Given the description of an element on the screen output the (x, y) to click on. 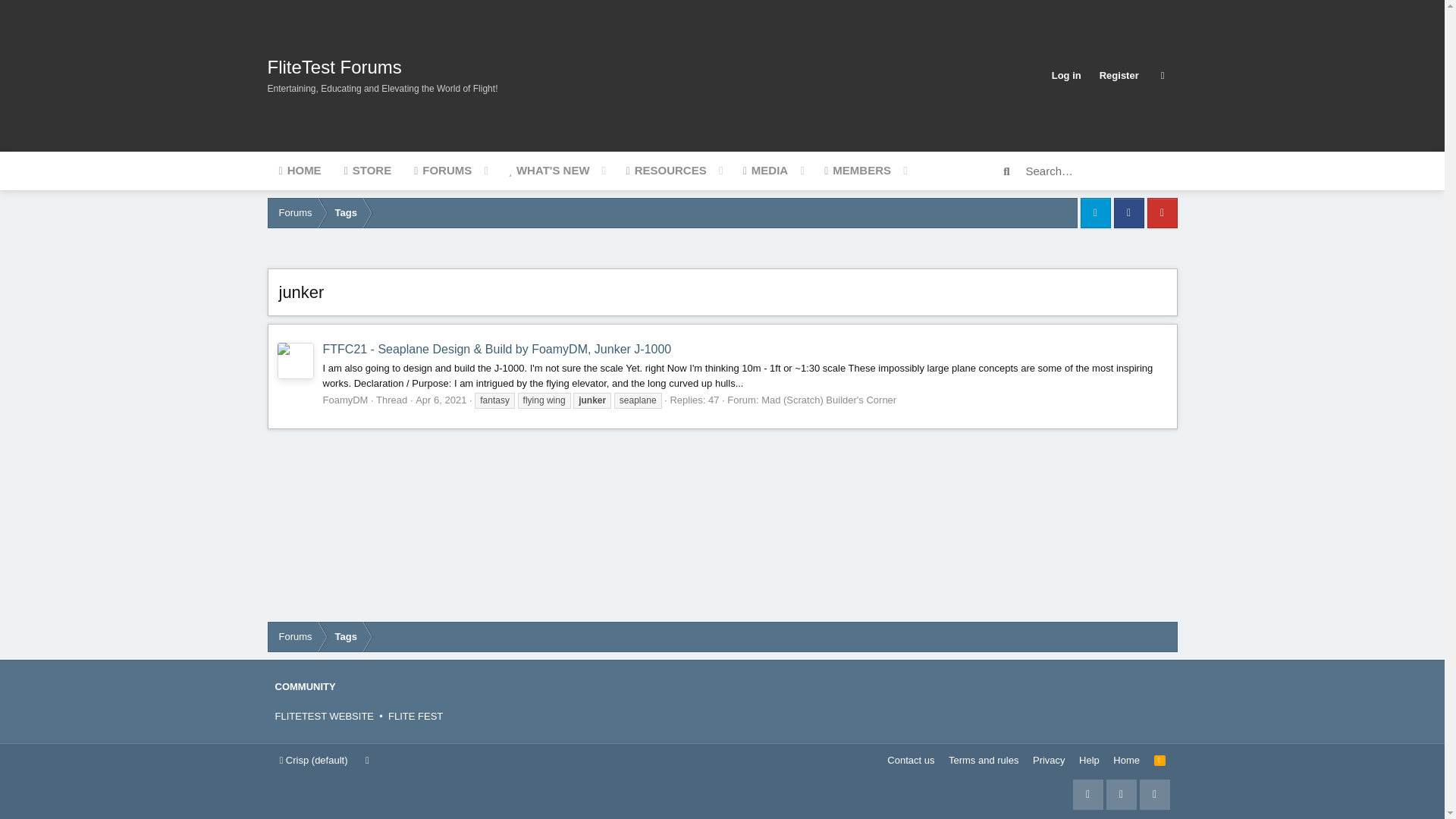
WHAT'S NEW (547, 170)
Register (1119, 75)
FORUMS (443, 170)
Log in (1066, 75)
FLITETEST WEBSITE (324, 715)
Style chooser (313, 759)
FLITE FEST (415, 715)
HOME (298, 170)
MEDIA (765, 170)
RESOURCES (665, 170)
Customize (1162, 75)
STORE (368, 170)
